Given the description of an element on the screen output the (x, y) to click on. 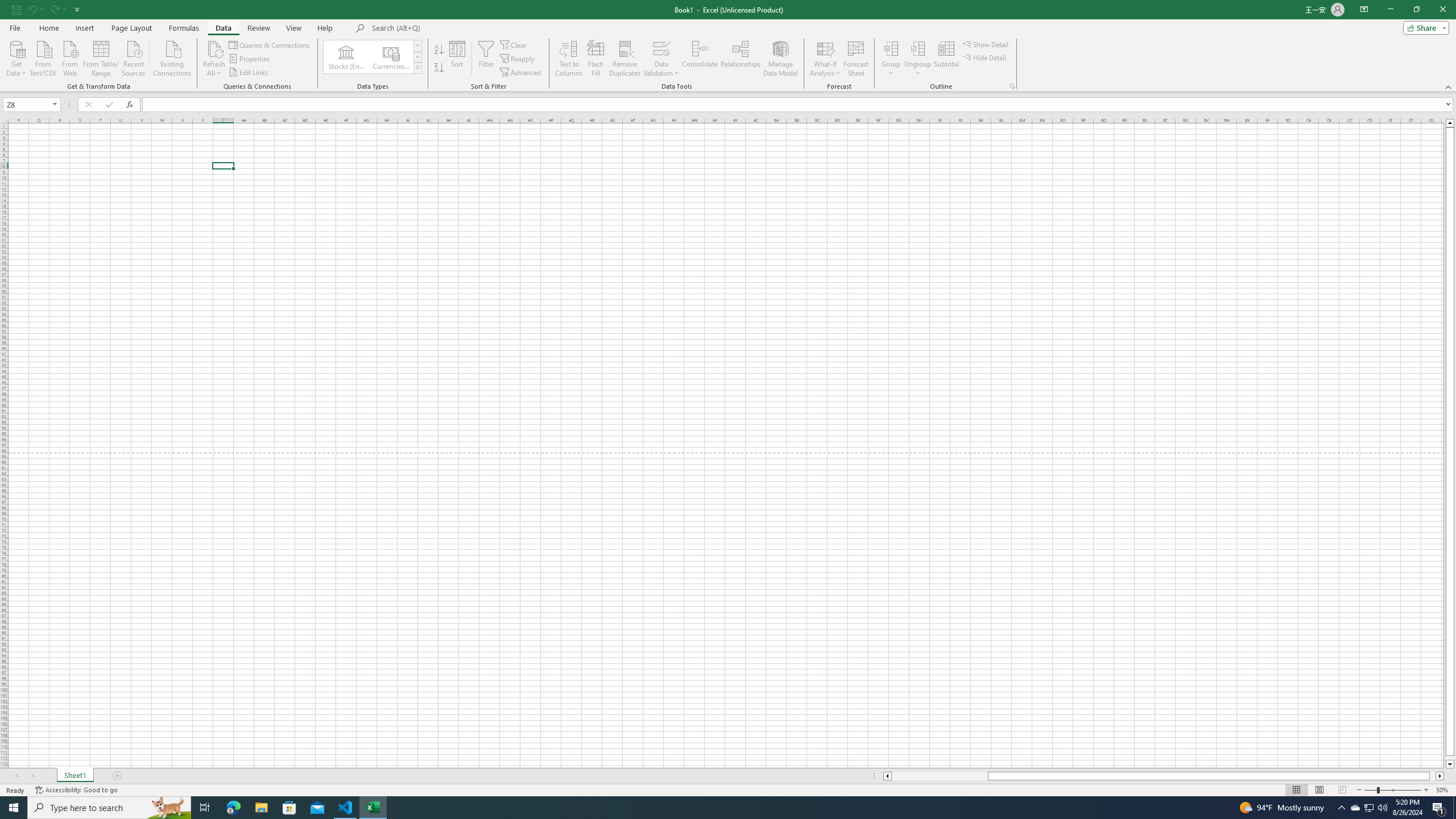
Group... (890, 48)
From Web (69, 57)
Advanced... (520, 72)
Microsoft search (450, 28)
Column left (886, 775)
Minimize (1390, 9)
More Options (917, 68)
Stocks (English) (346, 56)
Insert (83, 28)
From Text/CSV (43, 57)
Share (1423, 27)
Open (54, 104)
